Given the description of an element on the screen output the (x, y) to click on. 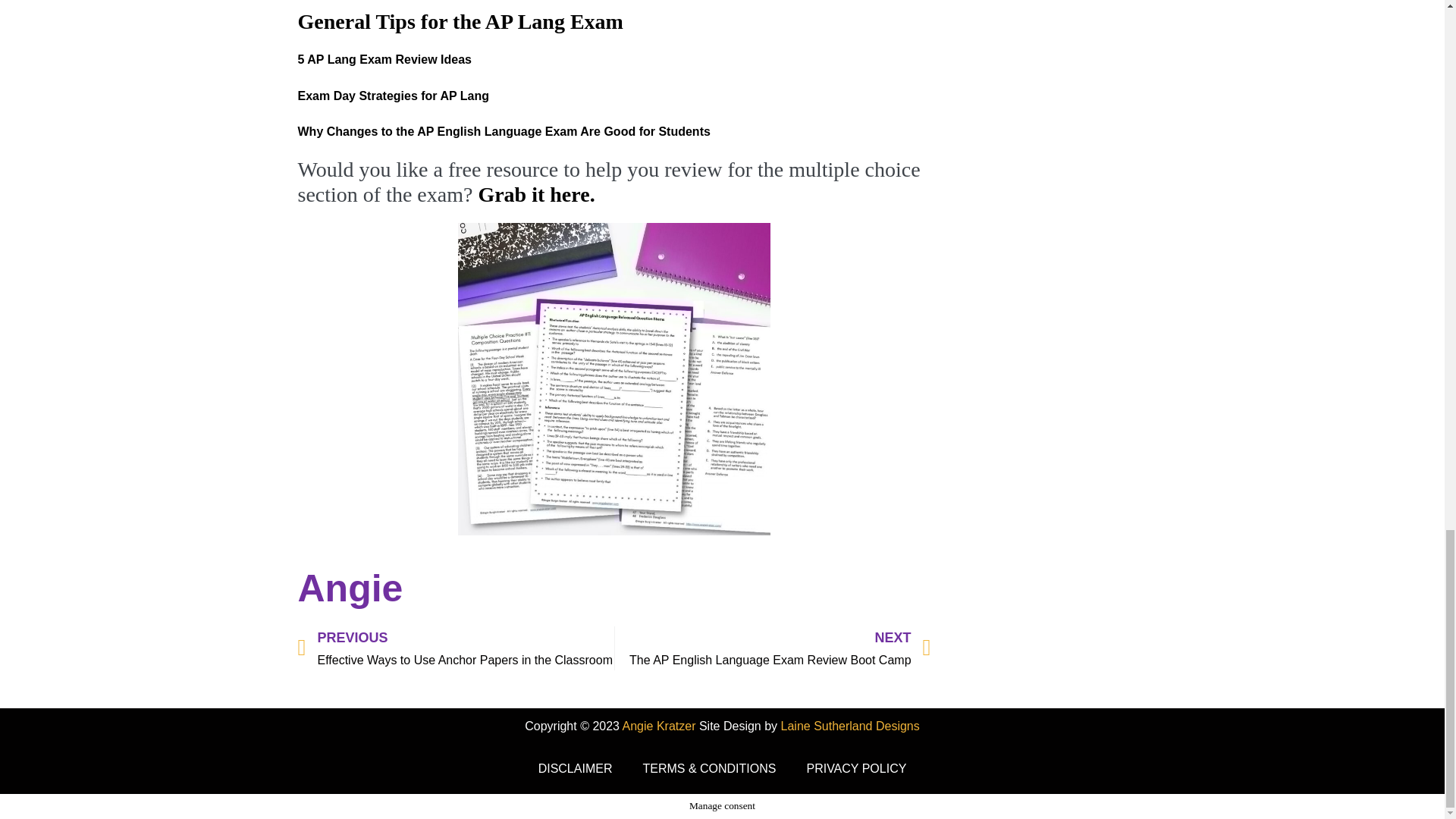
5 AP Lang Exam Review Ideas (772, 648)
Exam Day Strategies for AP Lang (383, 59)
Grab it here. (393, 95)
